Given the description of an element on the screen output the (x, y) to click on. 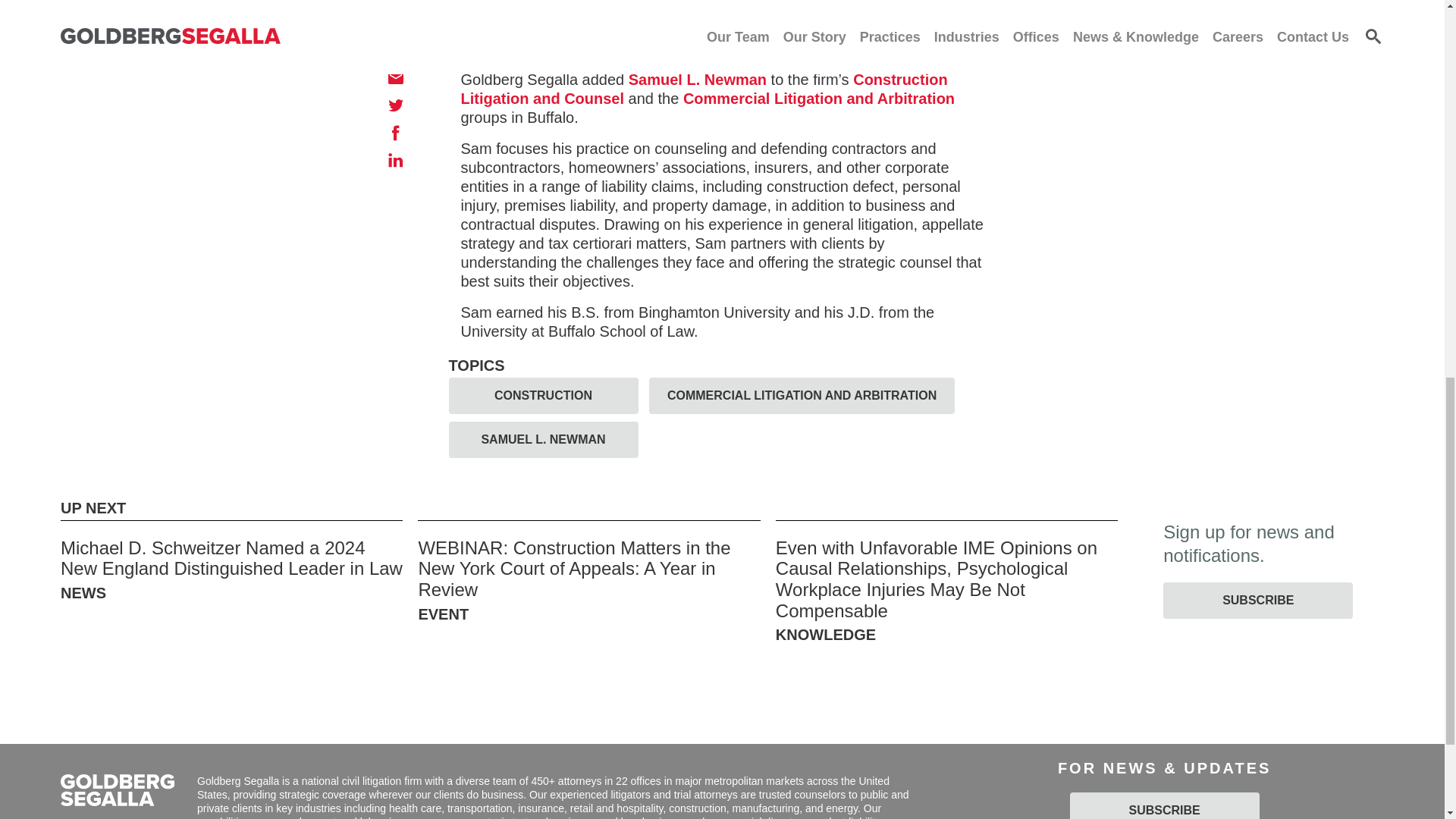
CONSTRUCTION (543, 395)
Commercial Litigation and Arbitration (818, 98)
Construction Litigation and Counsel (704, 89)
SAMUEL L. NEWMAN (543, 439)
Samuel L. Newman (697, 79)
SUBSCRIBE (1257, 600)
COMMERCIAL LITIGATION AND ARBITRATION (802, 395)
SUBSCRIBE (1164, 805)
